Given the description of an element on the screen output the (x, y) to click on. 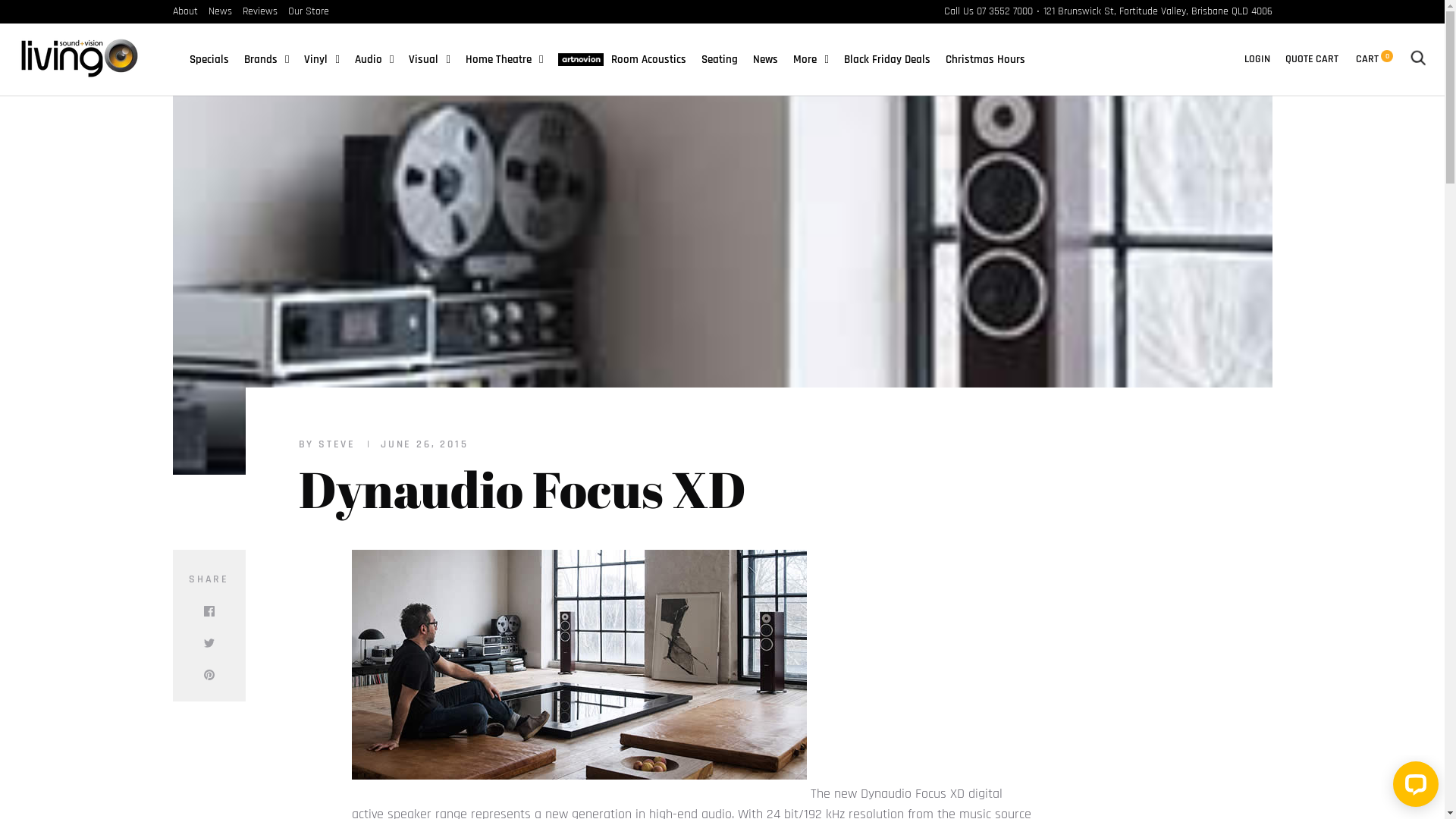
More Element type: text (810, 59)
QUOTE CART Element type: text (1311, 58)
Brands Element type: text (266, 59)
Reviews Element type: text (259, 11)
Our Store Element type: text (308, 11)
Audio Element type: text (374, 59)
Black Friday Deals Element type: text (887, 59)
LOGIN Element type: text (1257, 58)
CART 0 Element type: text (1374, 58)
Specials Element type: text (209, 59)
News Element type: text (765, 59)
Room Acoustics Element type: text (621, 59)
07 3552 7000 Element type: text (1004, 11)
Seating Element type: text (719, 59)
News Element type: text (219, 11)
Home Theatre Element type: text (504, 59)
About Element type: text (184, 11)
Vinyl Element type: text (321, 59)
Christmas Hours Element type: text (985, 59)
Visual Element type: text (429, 59)
